Given the description of an element on the screen output the (x, y) to click on. 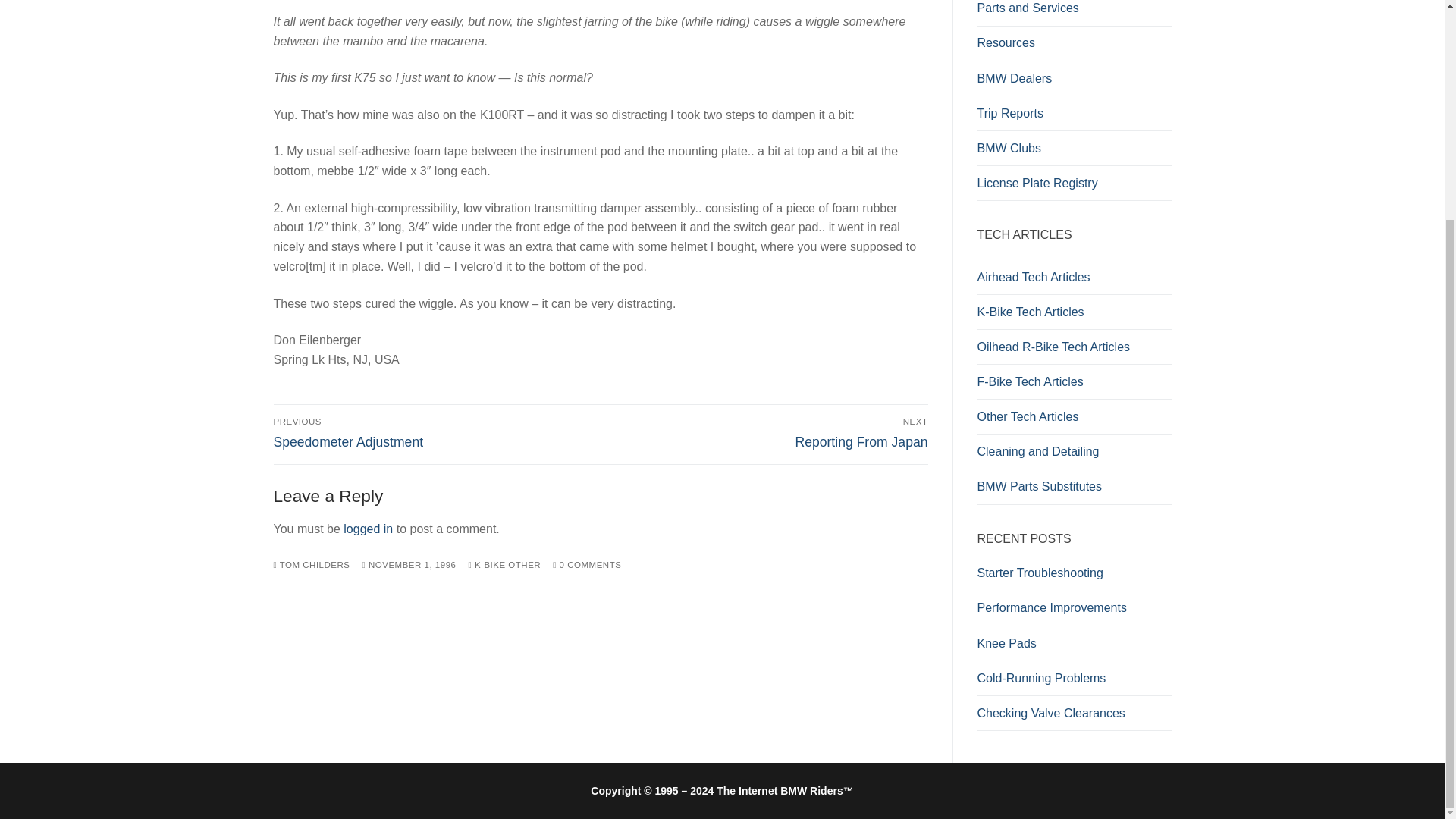
BMW Dealers (1073, 78)
0 COMMENTS (587, 563)
Resources (1073, 43)
NOVEMBER 1, 1996 (409, 563)
Airhead Tech Articles (1073, 277)
Parts and Services (1073, 13)
K-BIKE OTHER (503, 563)
K-Bike Tech Articles (1073, 312)
Trip Reports (1073, 113)
F-Bike Tech Articles (767, 432)
Oilhead R-Bike Tech Articles (1073, 381)
Performance Improvements (1073, 347)
logged in (1073, 611)
License Plate Registry (368, 528)
